Given the description of an element on the screen output the (x, y) to click on. 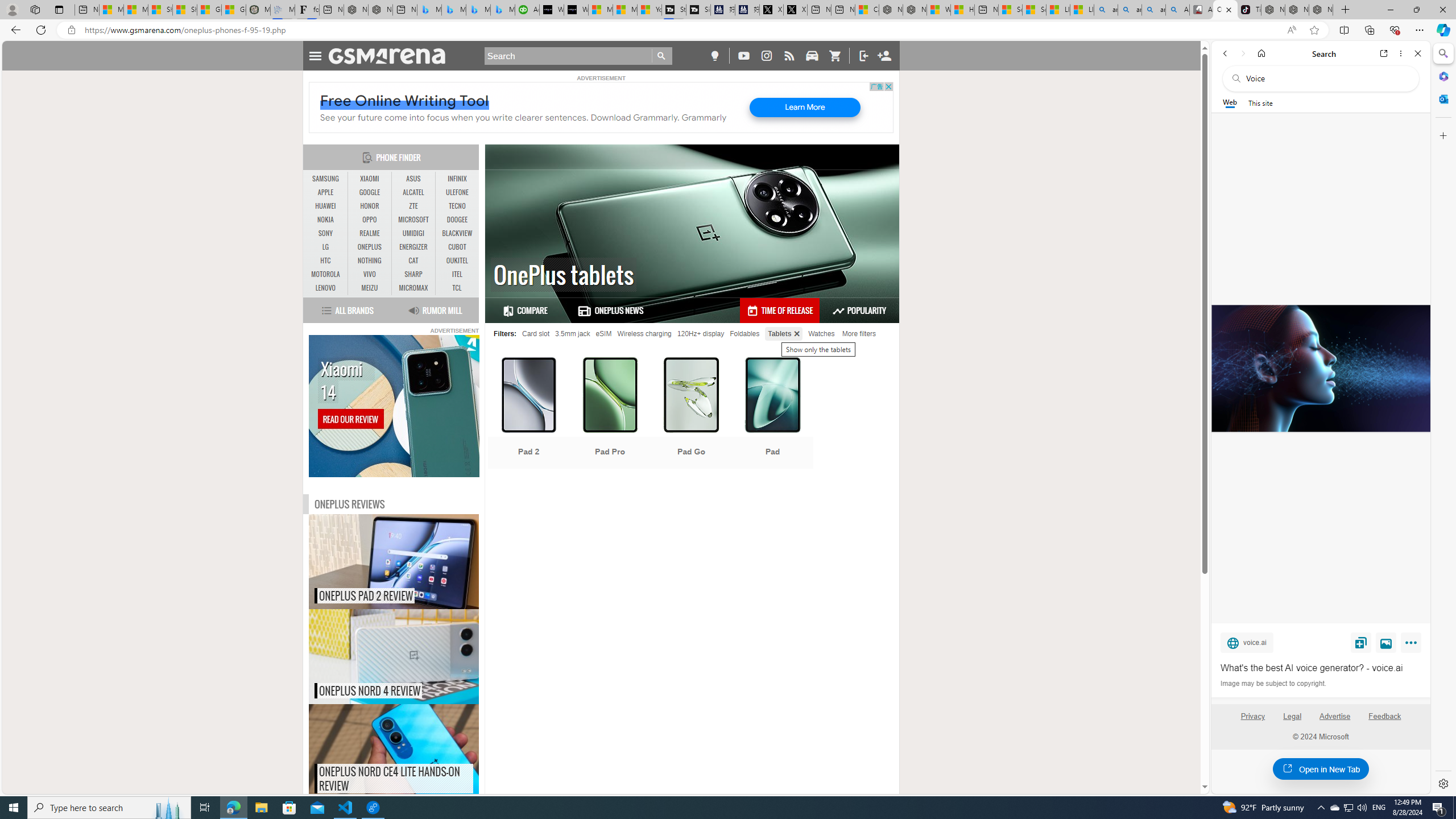
VIVO (369, 273)
LG (325, 246)
INFINIX (457, 178)
OPPO (369, 219)
NOKIA (325, 219)
Learn More (804, 107)
CAT (413, 260)
MOTOROLA (325, 273)
NOTHING (369, 260)
TECNO (457, 205)
Foldables (744, 333)
